Given the description of an element on the screen output the (x, y) to click on. 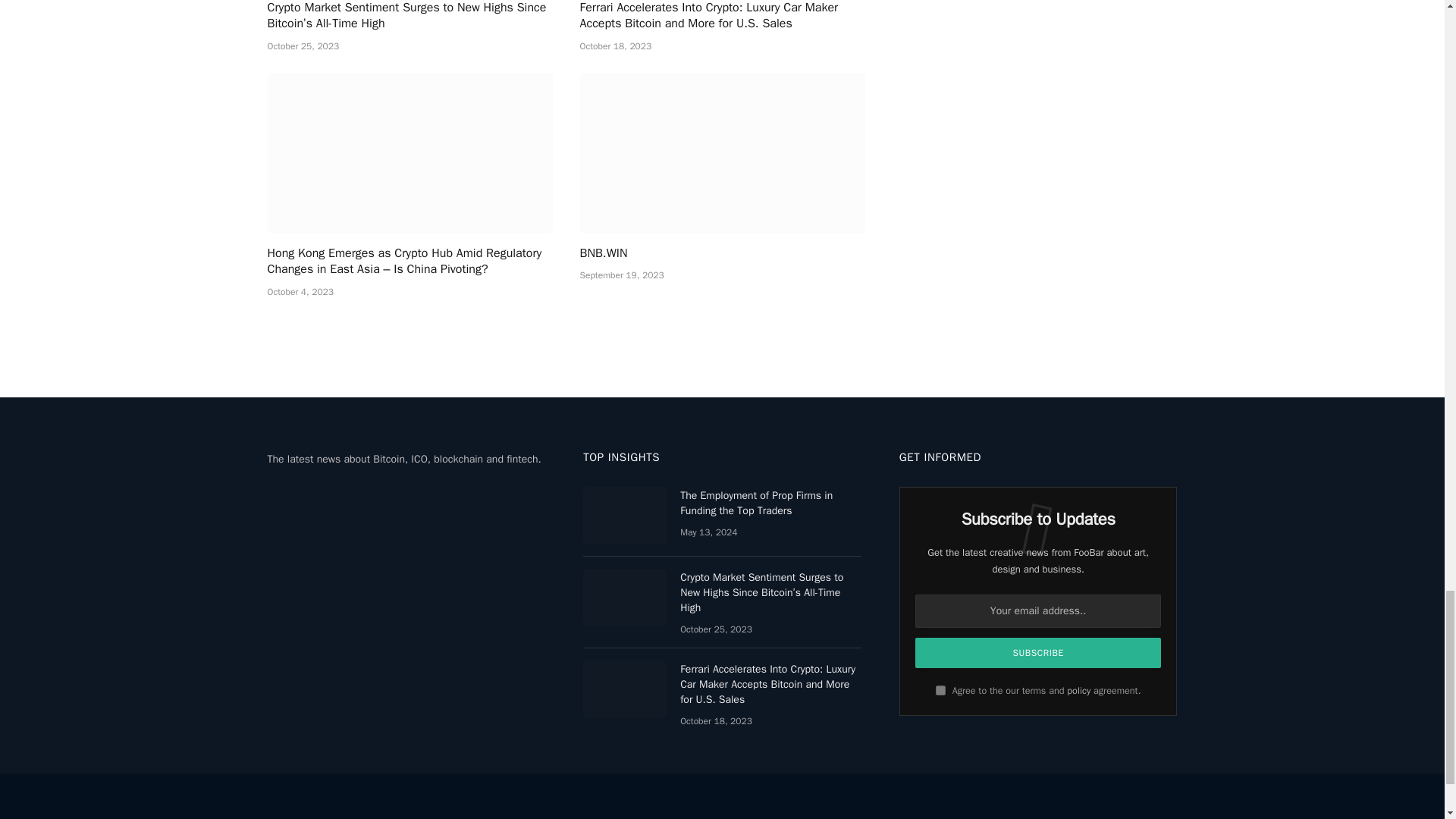
on (940, 690)
Subscribe (1038, 653)
